Given the description of an element on the screen output the (x, y) to click on. 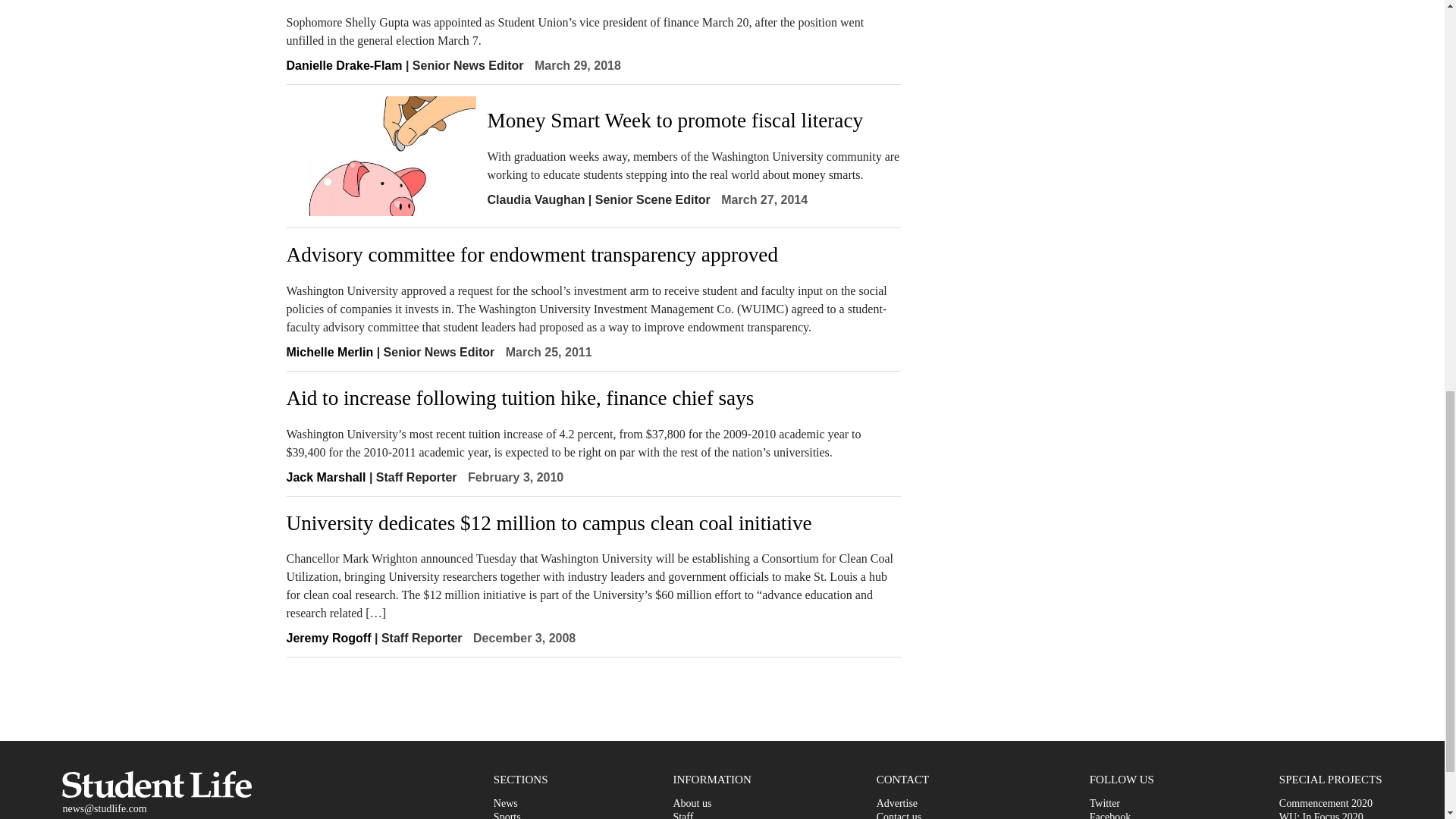
Articles by Jack Marshall (326, 477)
Articles by Danielle Drake-Flam (344, 65)
Danielle Drake-Flam (344, 65)
Articles by Jeremy Rogoff (328, 637)
Advisory committee for endowment transparency approved (593, 255)
Articles by Michelle Merlin (330, 351)
Michelle Merlin (330, 351)
Money Smart Week to promote fiscal literacy (692, 120)
